Given the description of an element on the screen output the (x, y) to click on. 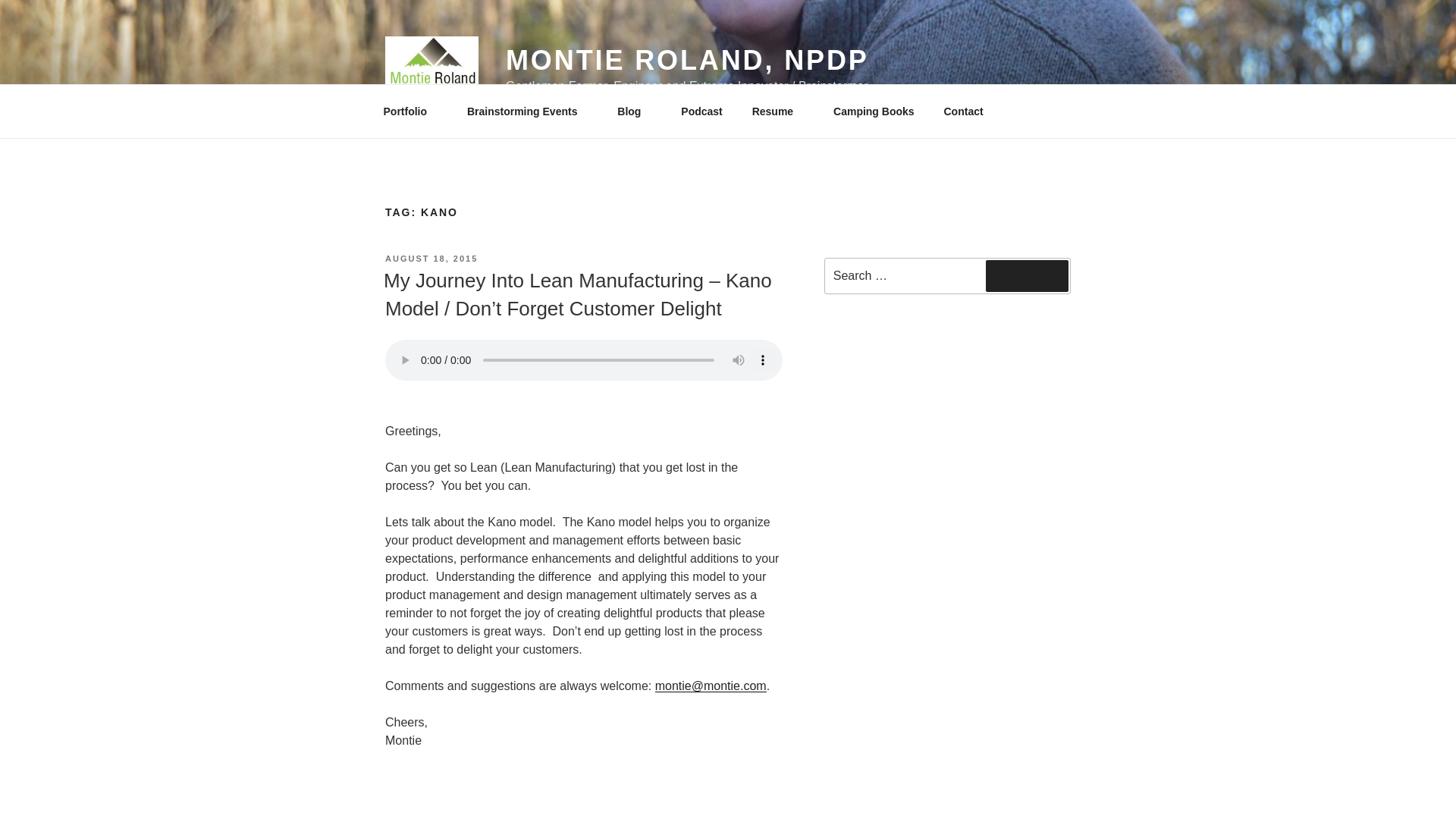
Podcast (701, 110)
AUGUST 18, 2015 (431, 257)
Blog (634, 110)
Resume (777, 110)
Contact (962, 110)
Portfolio (410, 110)
MONTIE ROLAND, NPDP (687, 60)
Brainstorming Events (525, 110)
Camping Books (874, 110)
